Given the description of an element on the screen output the (x, y) to click on. 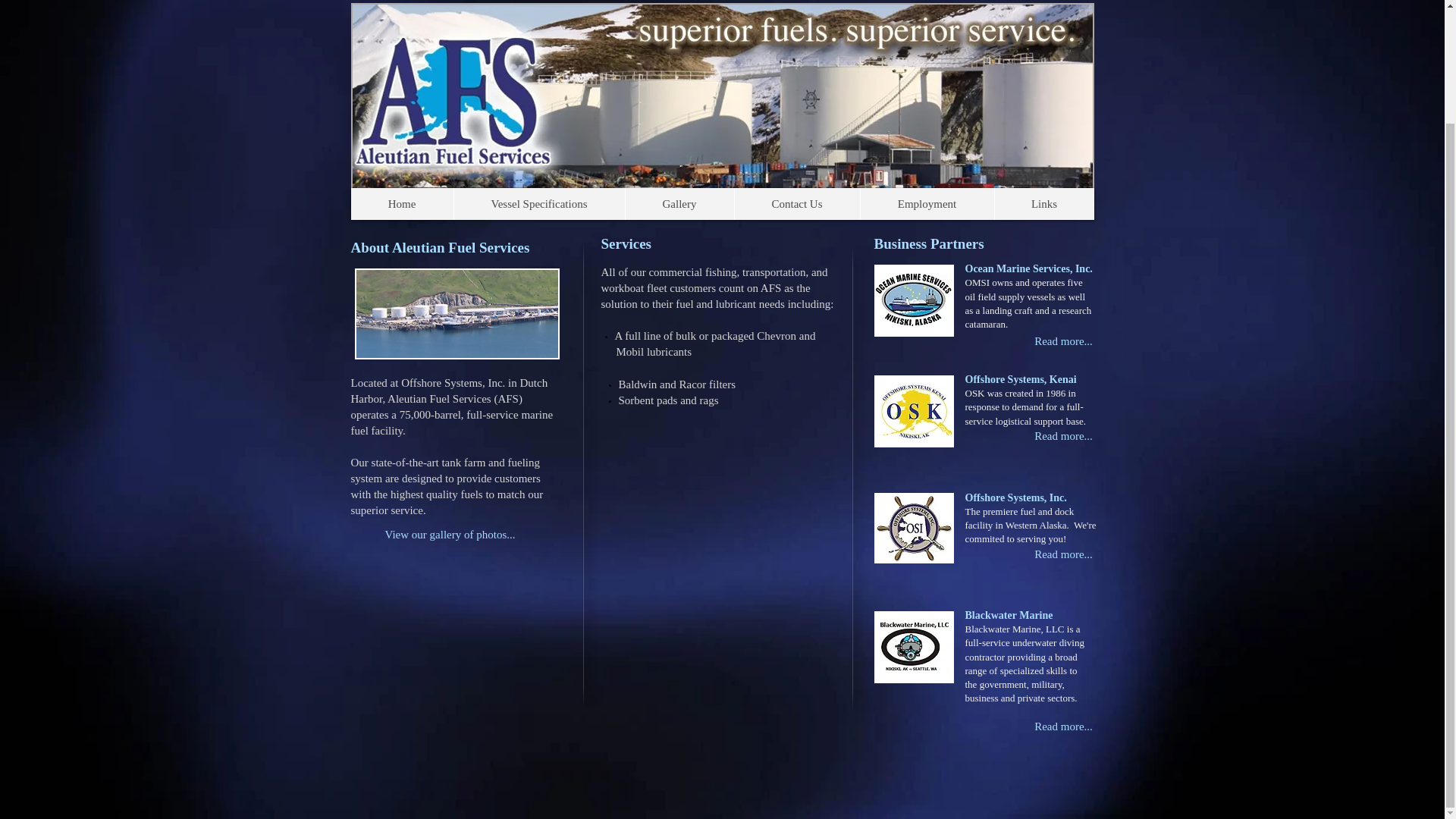
Read more... (1063, 554)
Vessel Specifications (538, 204)
Links (1042, 204)
Home (401, 204)
Read more... (1063, 726)
Employment (927, 204)
Read more... (1063, 436)
Gallery (678, 204)
Contact Us (796, 204)
Read more... (1063, 340)
View our gallery of photos... (472, 535)
